Given the description of an element on the screen output the (x, y) to click on. 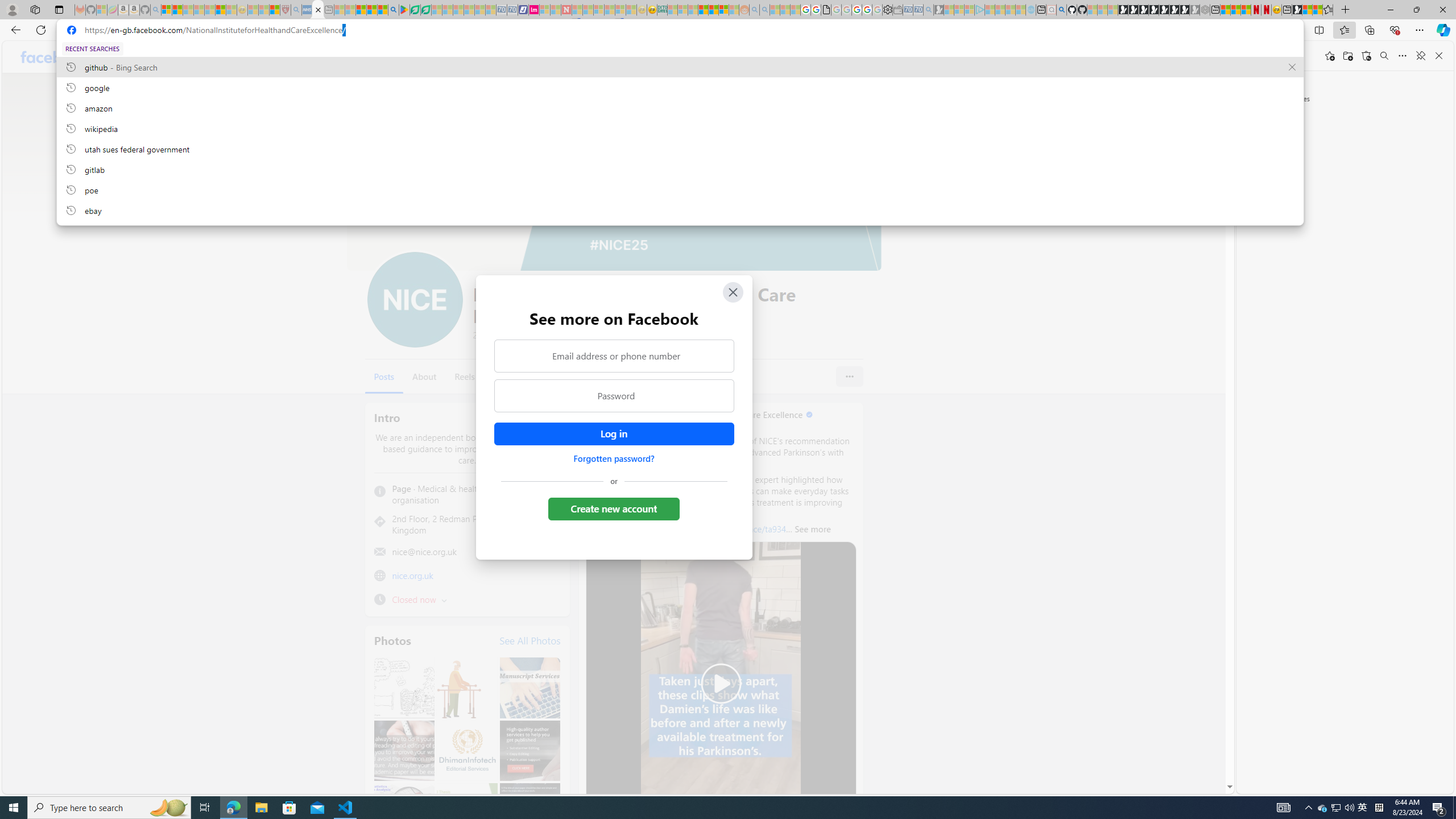
Microsoft Start Gaming - Sleeping (938, 9)
Email or phone (920, 56)
Remove suggestion (1291, 66)
Wildlife - MSN (1307, 9)
Terms of Use Agreement (414, 9)
Accessible login button (613, 433)
